Given the description of an element on the screen output the (x, y) to click on. 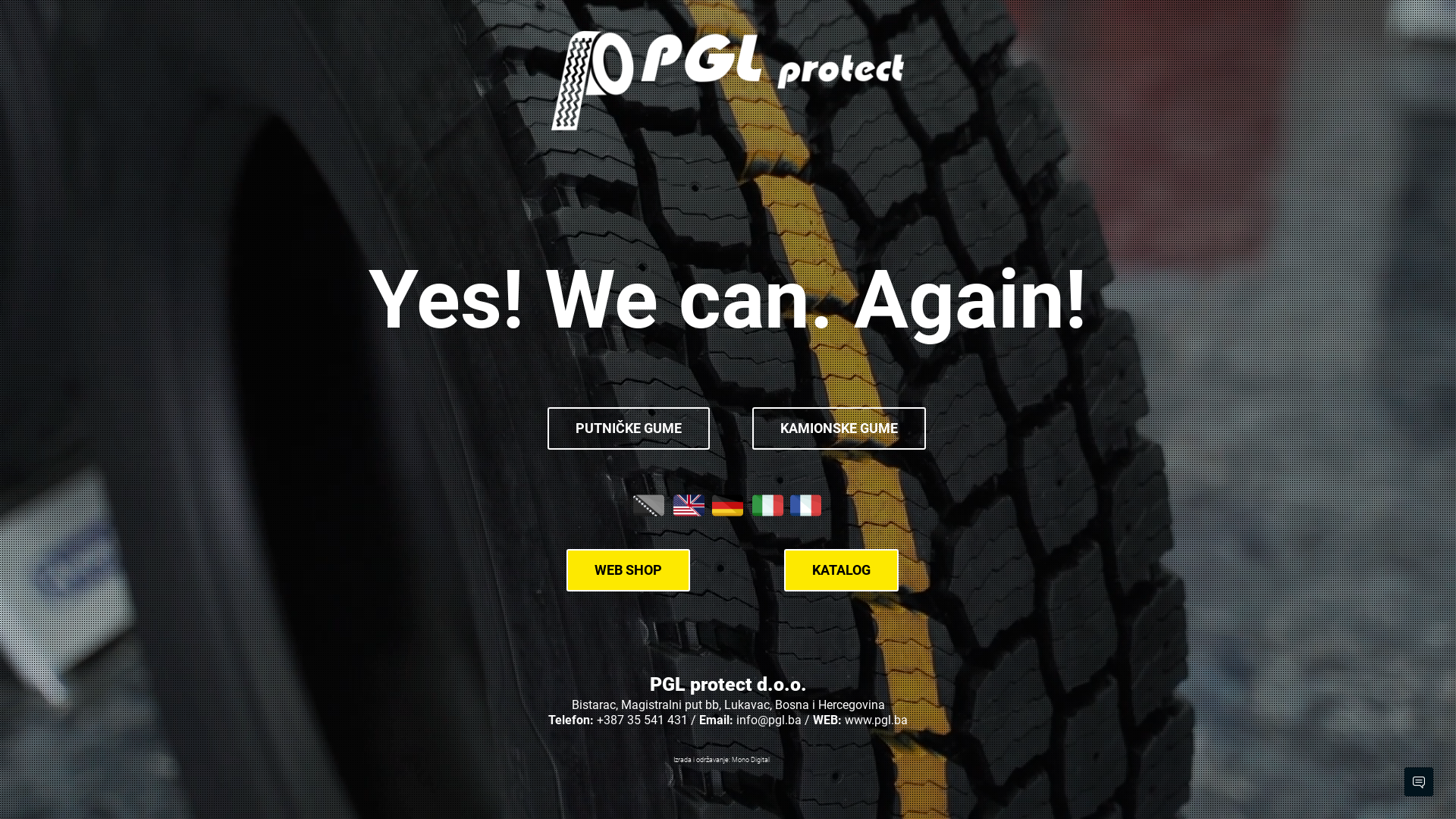
KAMIONSKE GUME Element type: text (838, 428)
WEB SHOP Element type: text (628, 570)
KATALOG Element type: text (841, 570)
